Given the description of an element on the screen output the (x, y) to click on. 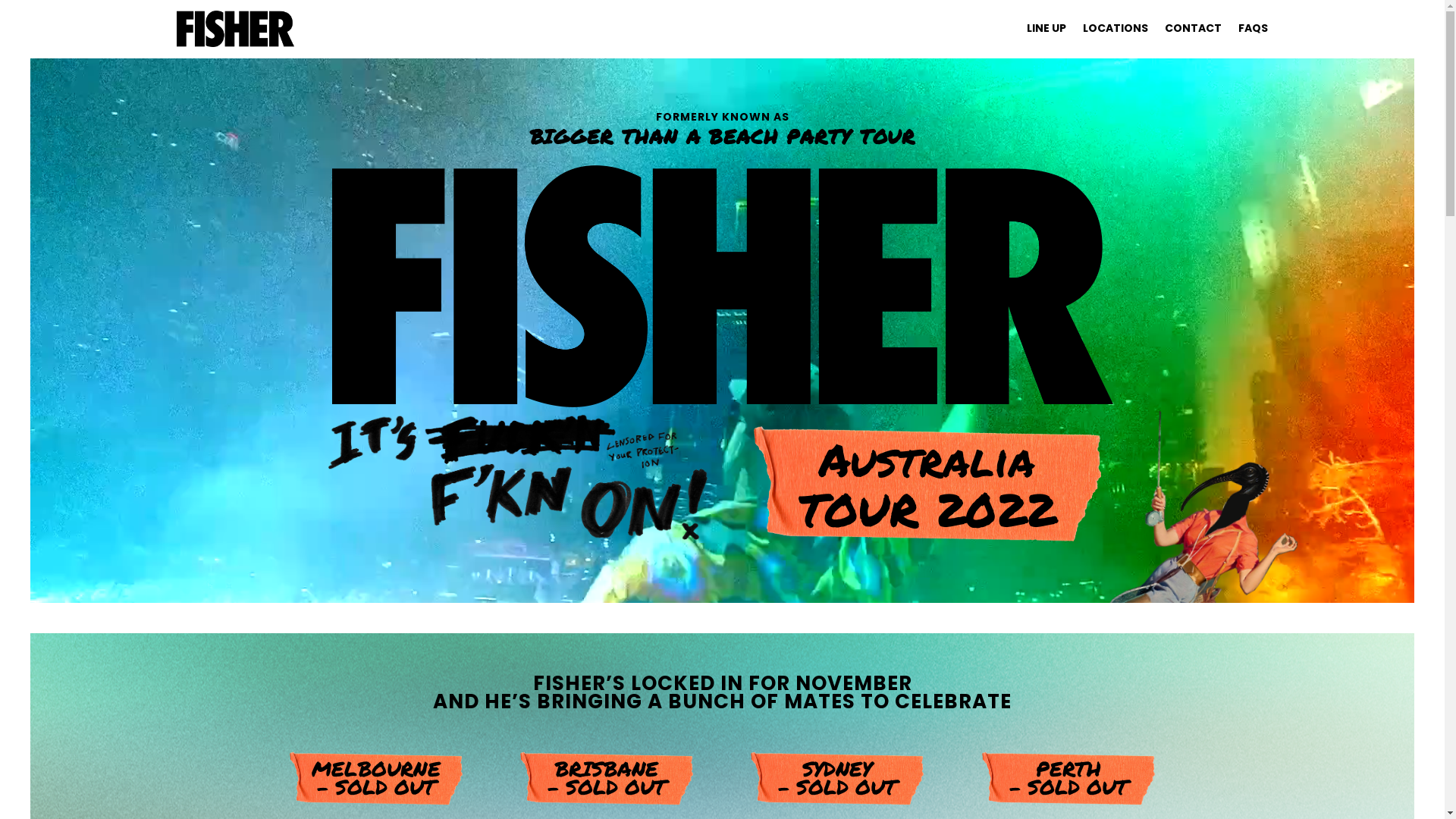
FISHER-LOGO Element type: hover (234, 28)
its fkn on Element type: hover (516, 473)
FISHER-LOGO Element type: hover (722, 286)
FAQS Element type: text (1252, 27)
Bird-Fishing-2 Element type: hover (1181, 529)
CONTACT Element type: text (1192, 27)
LINE UP Element type: text (1046, 27)
LOCATIONS Element type: text (1115, 27)
